Given the description of an element on the screen output the (x, y) to click on. 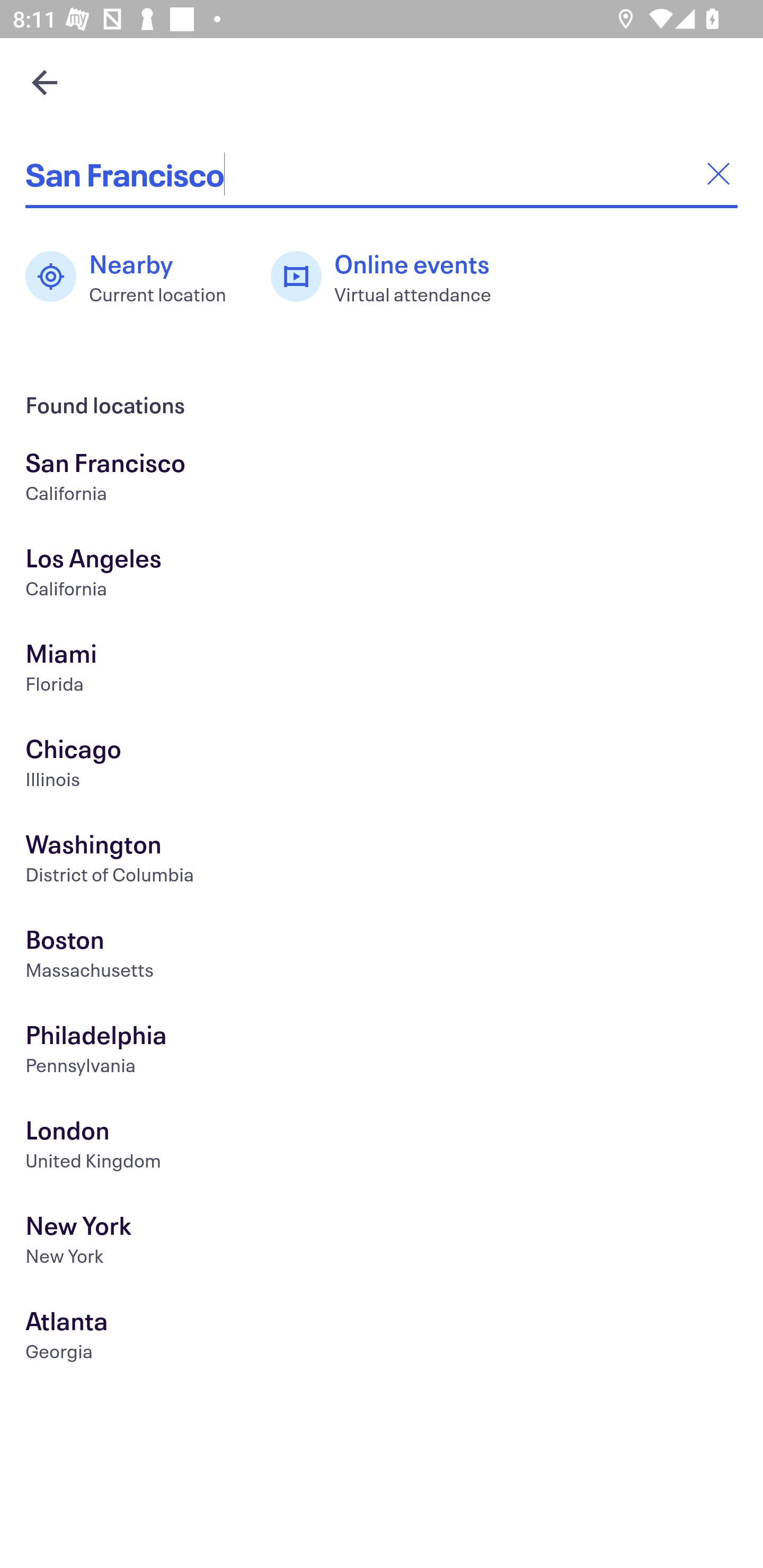
Navigate up (44, 82)
San Francisco (381, 173)
Nearby Current location (135, 276)
Online events Virtual attendance (390, 276)
San Francisco California (381, 479)
Los Angeles California (381, 574)
Miami Florida (381, 670)
Chicago Illinois (381, 765)
Washington District of Columbia (381, 861)
Boston Massachusetts (381, 955)
Philadelphia Pennsylvania (381, 1051)
London United Kingdom (381, 1146)
New York (381, 1242)
Atlanta Georgia (381, 1338)
